Given the description of an element on the screen output the (x, y) to click on. 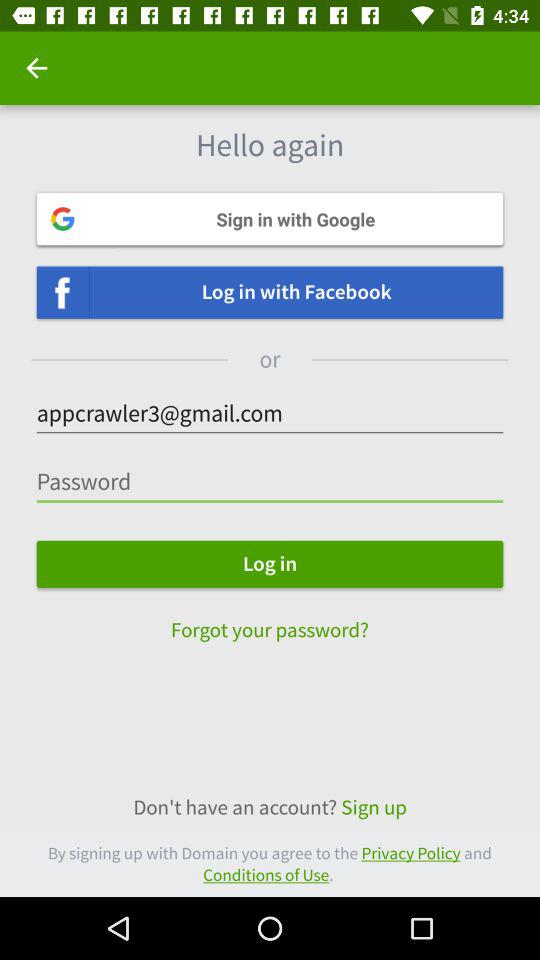
click the icon above log in (269, 482)
